Given the description of an element on the screen output the (x, y) to click on. 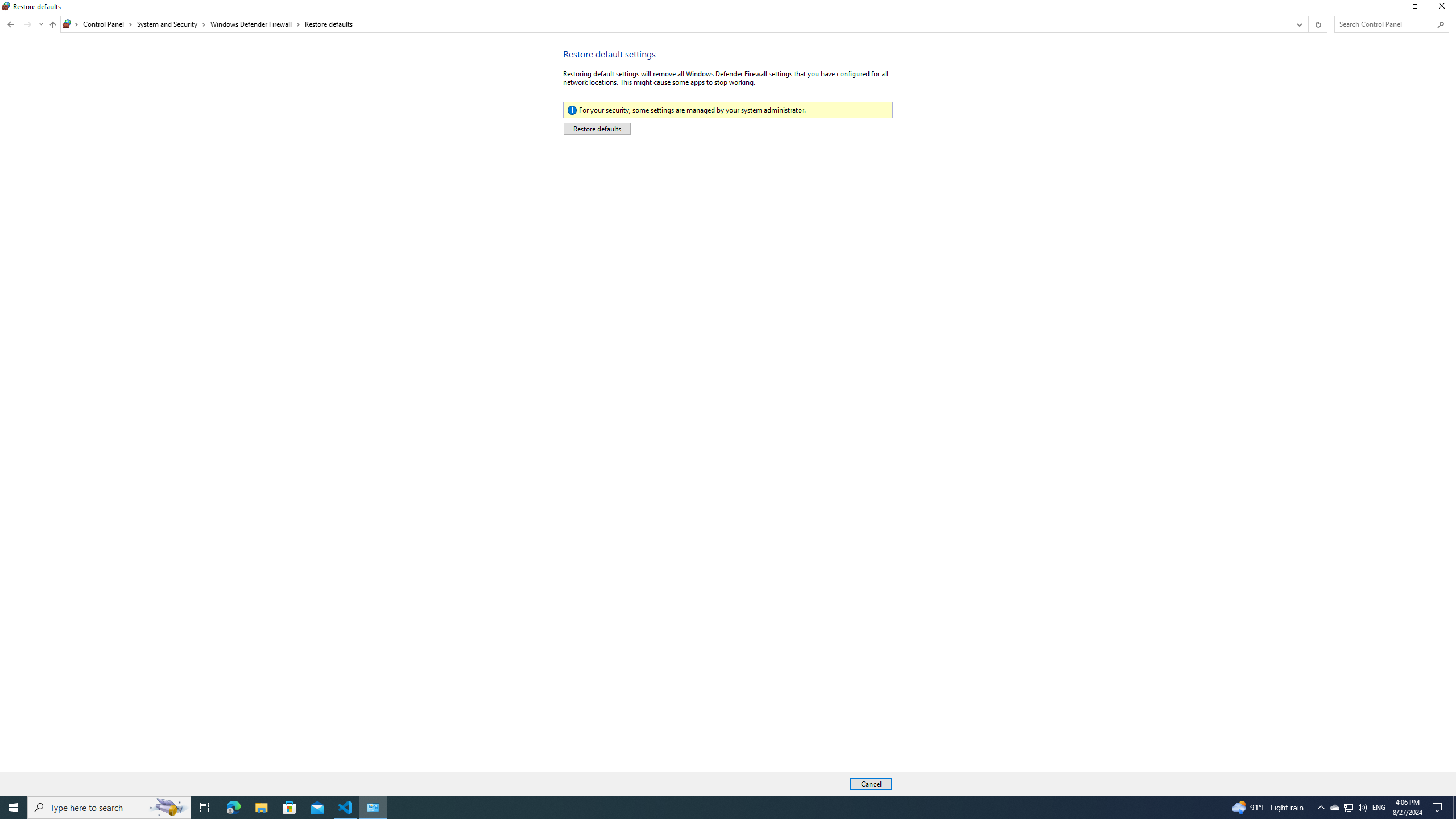
Restore (1347, 807)
Microsoft Store (1415, 8)
Action Center, No new notifications (1333, 807)
Type here to search (289, 807)
Previous Locations (1439, 807)
Control Panel (108, 807)
All locations (1298, 23)
Up band toolbar (107, 23)
Search highlights icon opens search home window (70, 23)
Navigation buttons (52, 26)
System (167, 807)
Restore defaults (24, 23)
